Given the description of an element on the screen output the (x, y) to click on. 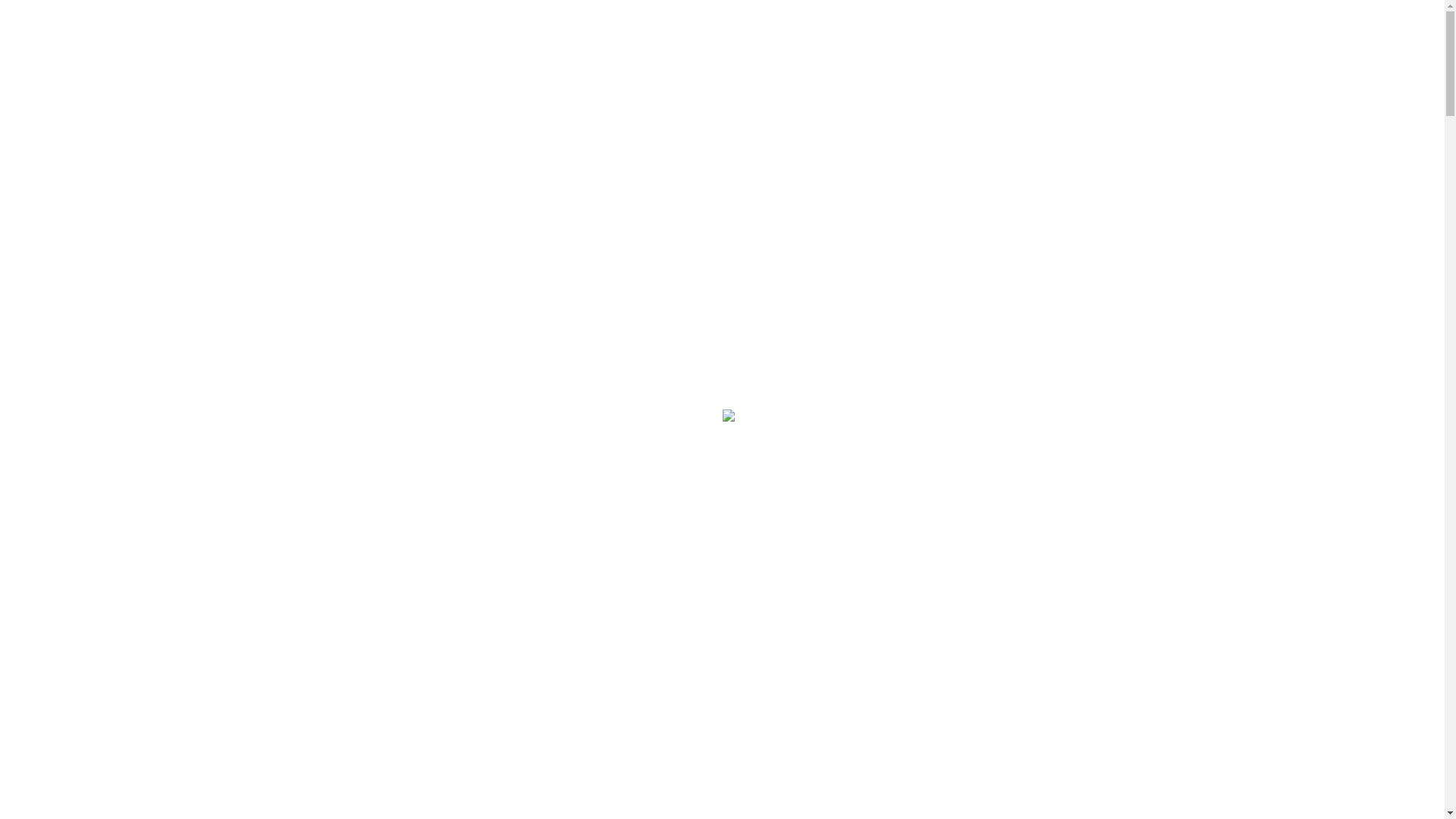
Skip to content Element type: text (42, 12)
Generator Maintenance and Servicing Element type: text (172, 415)
Instagram page opens in new window Element type: text (480, 26)
Electrical Contracting Element type: text (133, 393)
Services Element type: text (56, 371)
Rentals Element type: text (54, 451)
Home Element type: text (50, 107)
Linkedin page opens in new window Element type: text (673, 26)
Twitter page opens in new window Element type: text (291, 26)
Projects Element type: text (55, 214)
Renewable Energy Element type: text (125, 437)
Facebook page opens in new window Element type: text (103, 26)
Renewable Energy Element type: text (125, 187)
Contact us Element type: text (61, 228)
Home Element type: text (50, 357)
Projects Element type: text (55, 464)
Generator Maintenance and Servicing Element type: text (172, 165)
Contact us Element type: text (61, 478)
Pinterest page opens in new window Element type: text (864, 26)
Electrical Contracting Element type: text (133, 143)
Rentals Element type: text (54, 200)
Services Element type: text (56, 121)
